Given the description of an element on the screen output the (x, y) to click on. 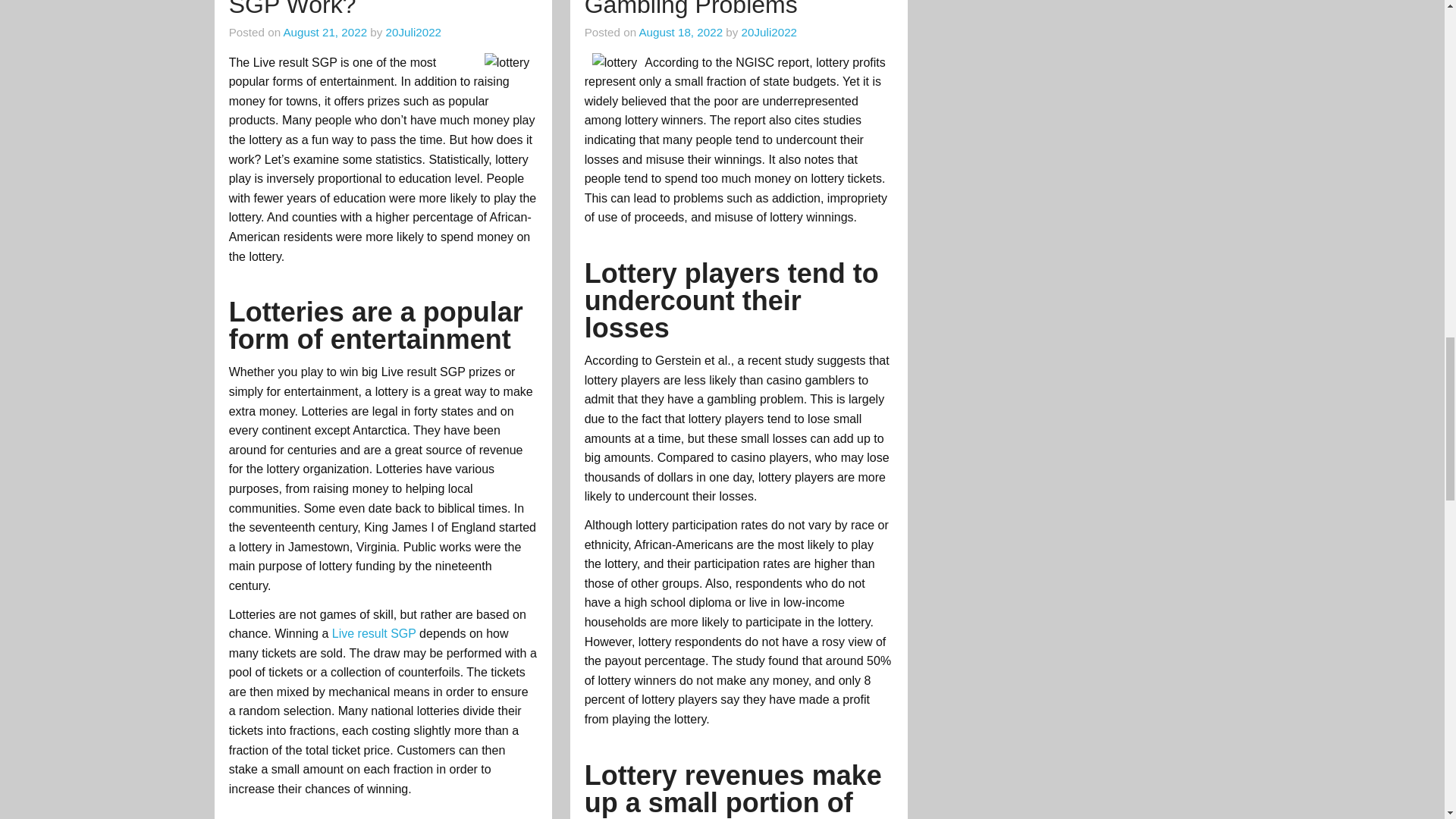
12:17 am (680, 31)
August 18, 2022 (680, 31)
Live result SGP (375, 633)
20Juli2022 (768, 31)
How Does the Live result SGP Work? (363, 9)
Lottery Winnings and Gambling Problems (698, 9)
August 21, 2022 (324, 31)
View all posts by 20Juli2022 (413, 31)
7:44 am (324, 31)
View all posts by 20Juli2022 (768, 31)
